Given the description of an element on the screen output the (x, y) to click on. 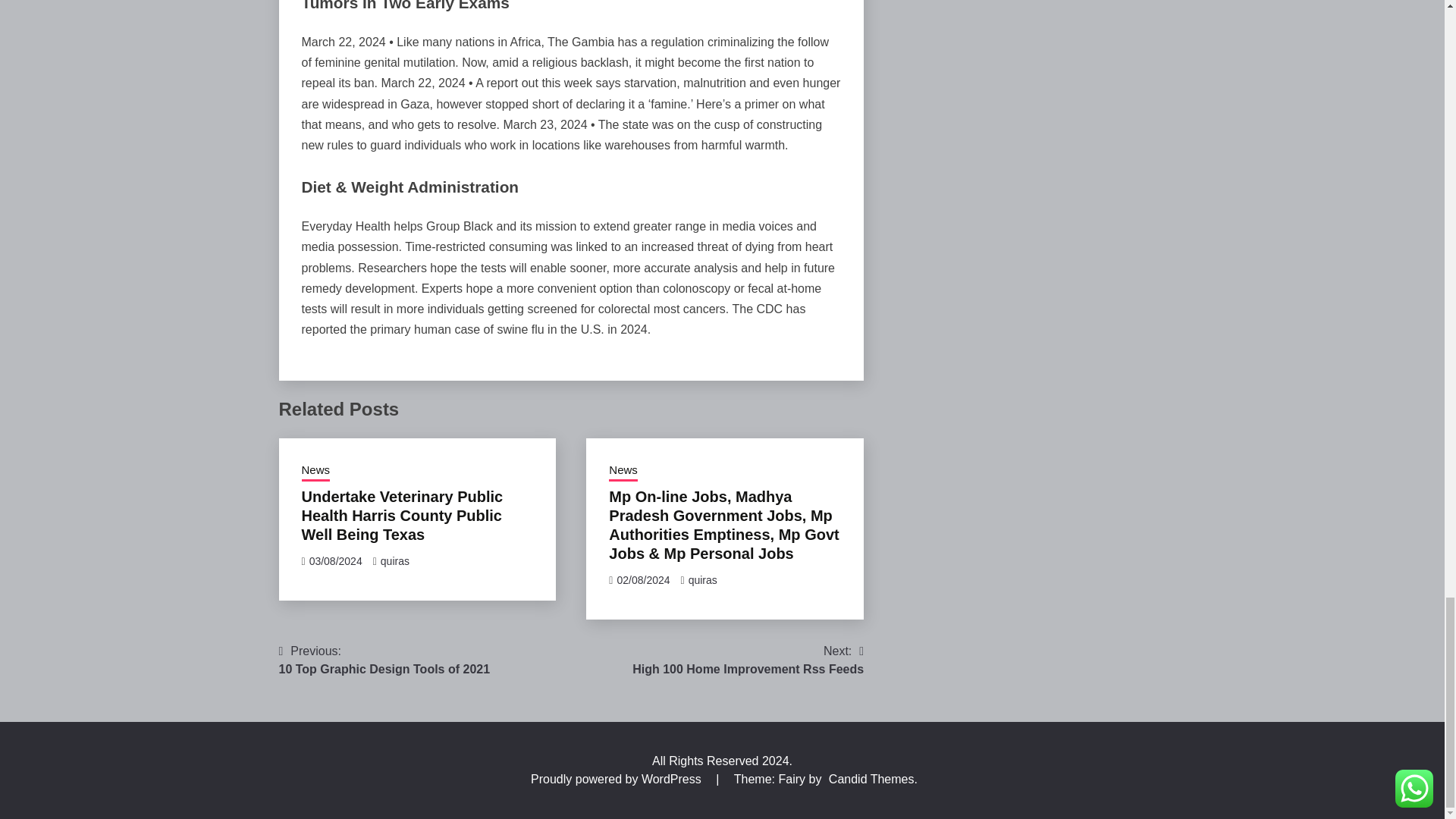
News (622, 471)
quiras (747, 660)
quiras (394, 561)
News (702, 580)
